Given the description of an element on the screen output the (x, y) to click on. 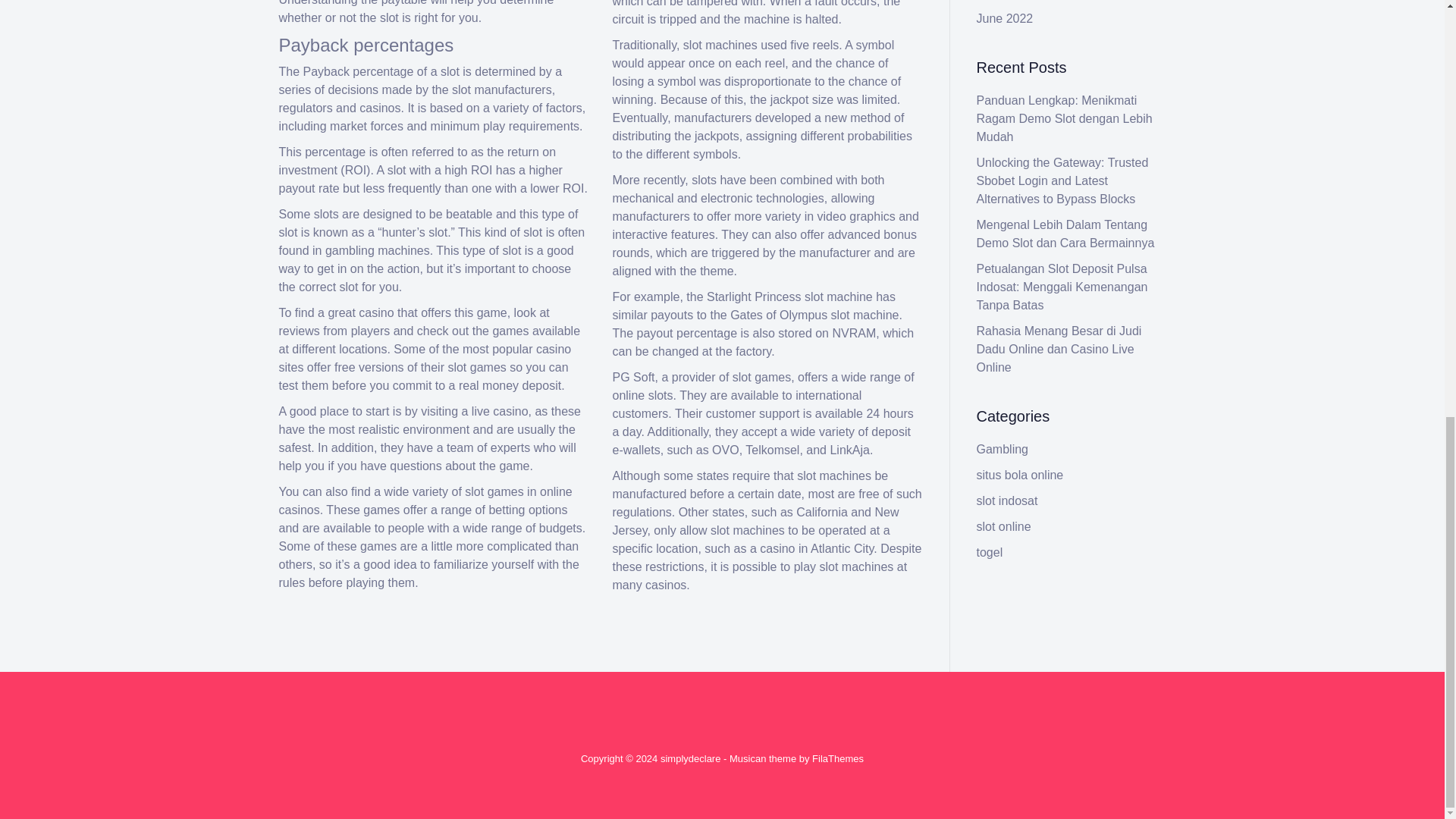
simplydeclare (690, 758)
